Given the description of an element on the screen output the (x, y) to click on. 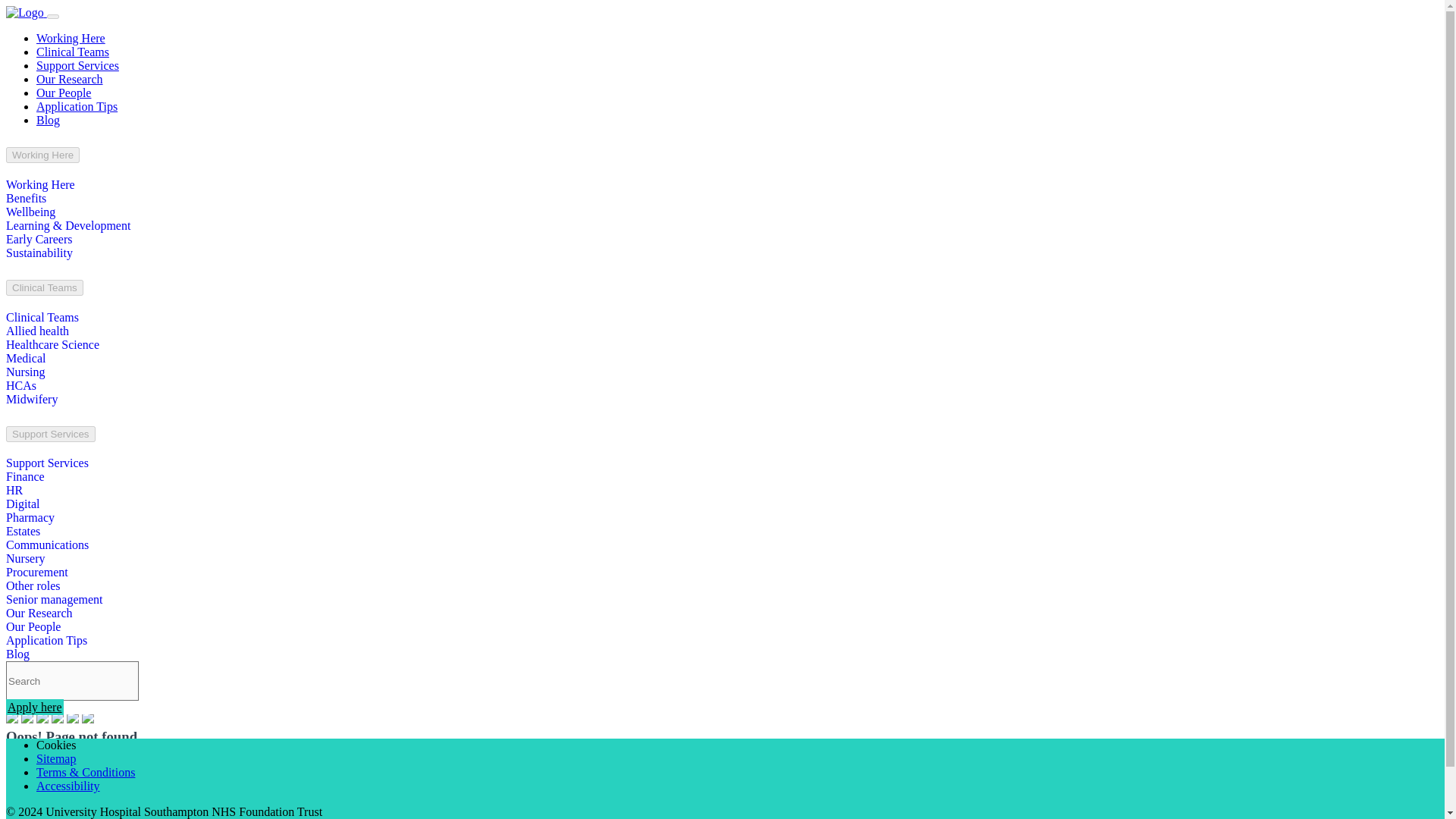
Application Tips (76, 106)
Sustainability (38, 252)
Clinical Teams (72, 51)
Our Research (69, 78)
Our People (63, 92)
Early Careers (38, 238)
Support Services (77, 65)
Clinical Teams (43, 287)
Benefits (25, 197)
Working Here (70, 38)
